Given the description of an element on the screen output the (x, y) to click on. 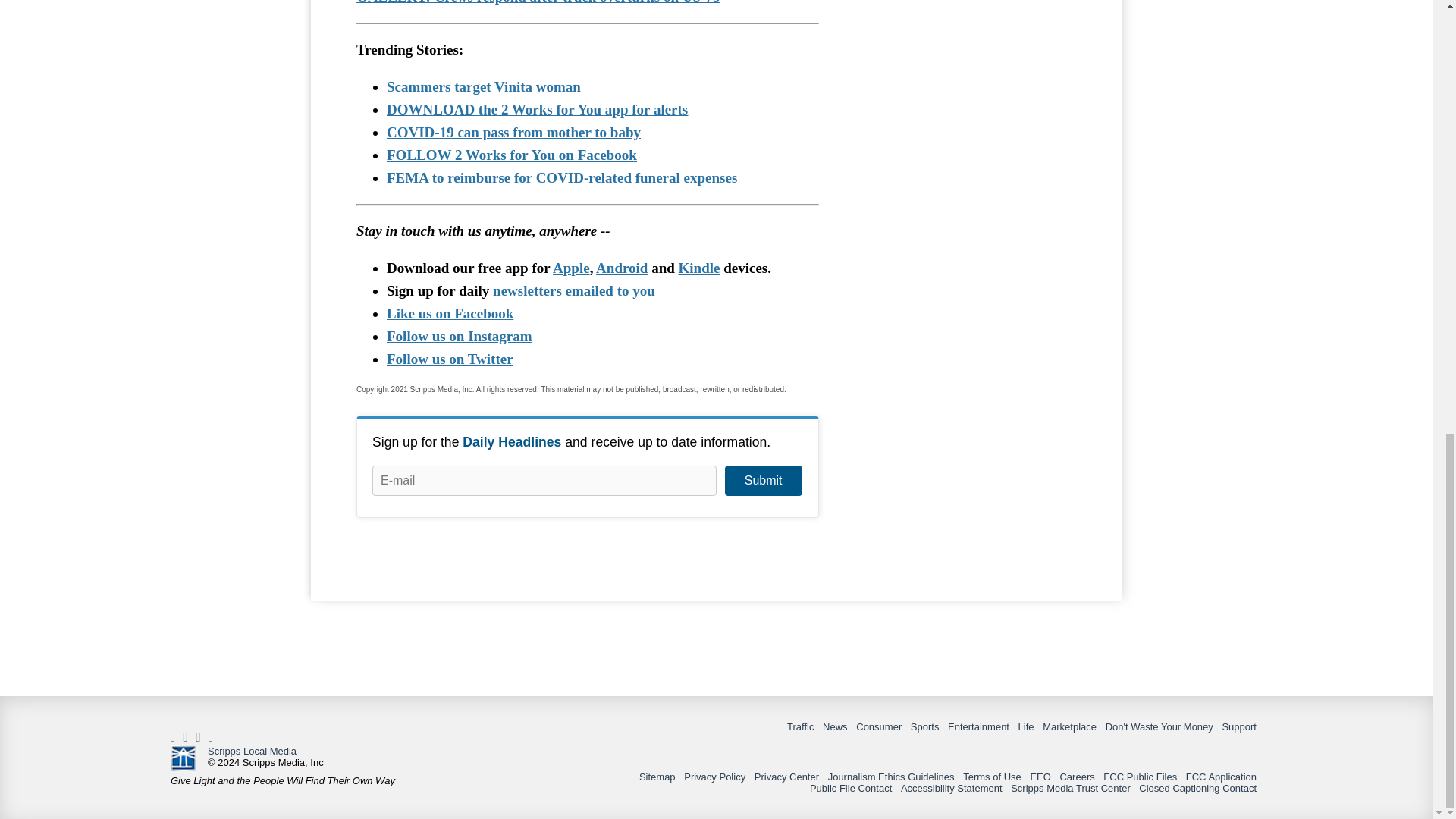
Submit (763, 481)
